Given the description of an element on the screen output the (x, y) to click on. 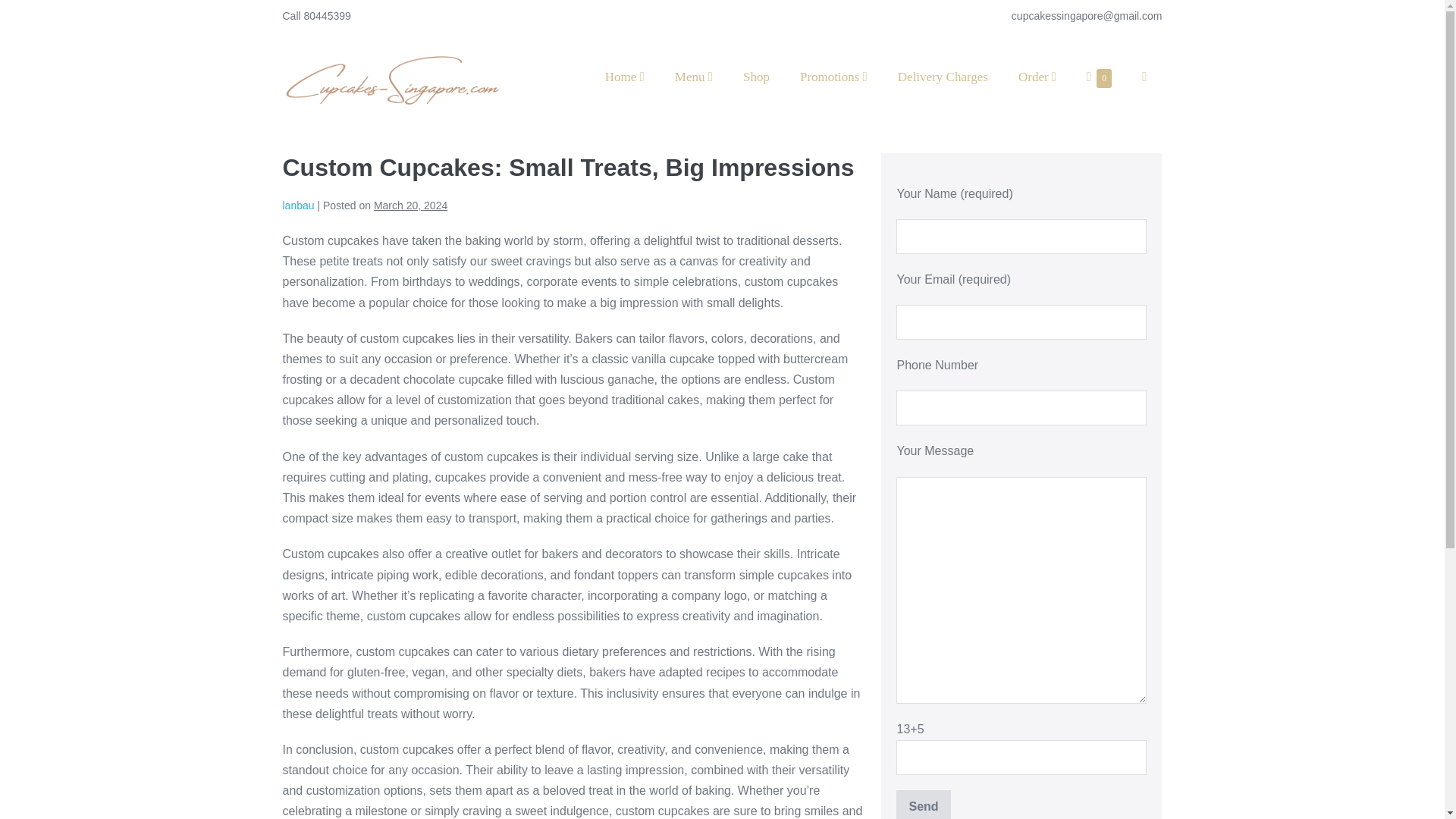
Shop (756, 77)
Send (923, 804)
Promotions (833, 77)
Home (624, 77)
Search Toggle (1143, 77)
Menu (693, 77)
Shopping Cart (1098, 77)
Cupcakes Singapore (392, 77)
Order (1098, 77)
Delivery Charges (1037, 77)
View all posts by lanbau (942, 77)
